Given the description of an element on the screen output the (x, y) to click on. 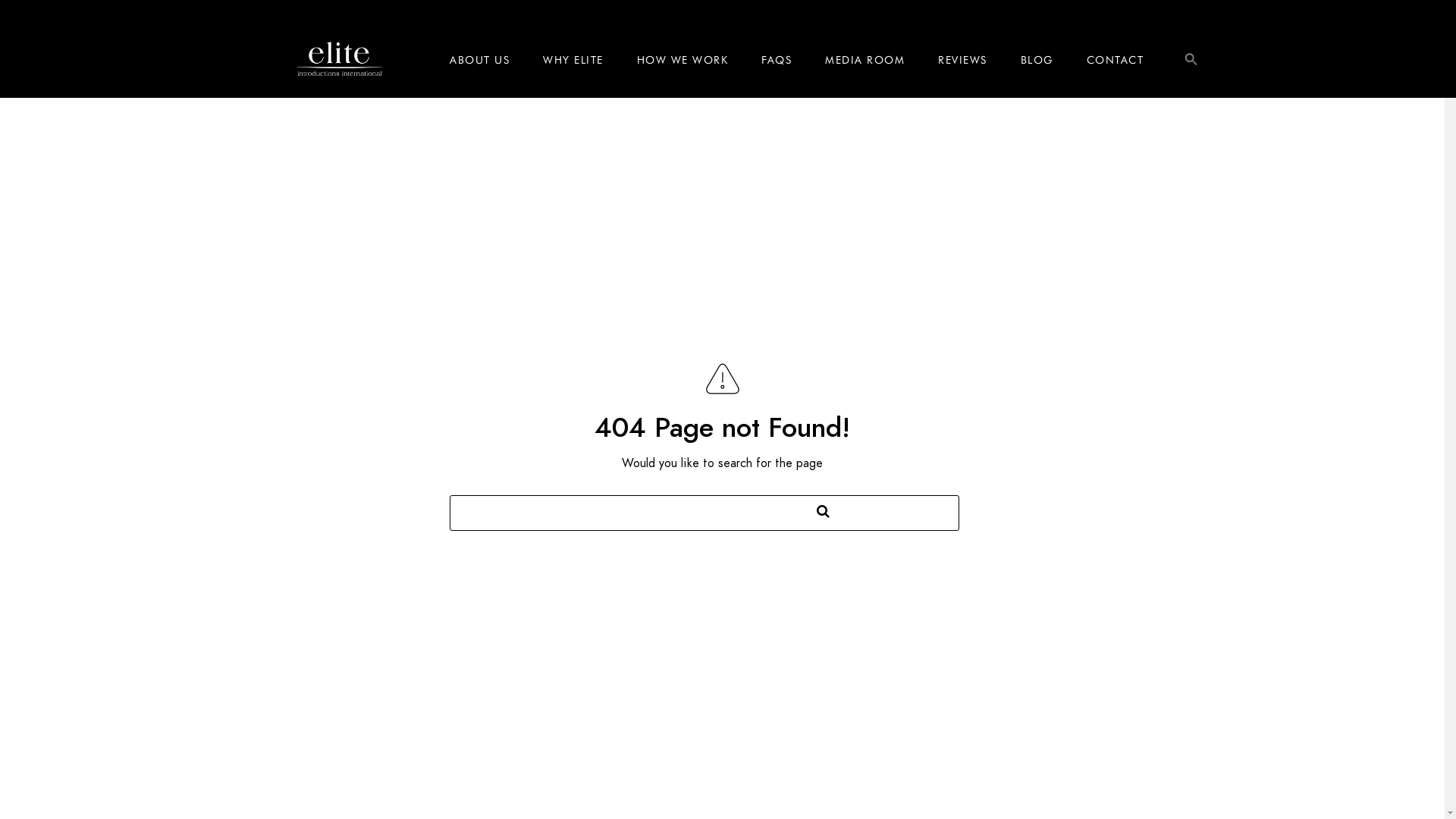
FAQS Element type: text (776, 59)
CONTACT Element type: text (1114, 59)
BLOG Element type: text (1036, 59)
HOW WE WORK Element type: text (682, 59)
WHY ELITE Element type: text (572, 59)
REVIEWS Element type: text (962, 59)
MEDIA ROOM Element type: text (864, 59)
ABOUT US Element type: text (479, 59)
